Given the description of an element on the screen output the (x, y) to click on. 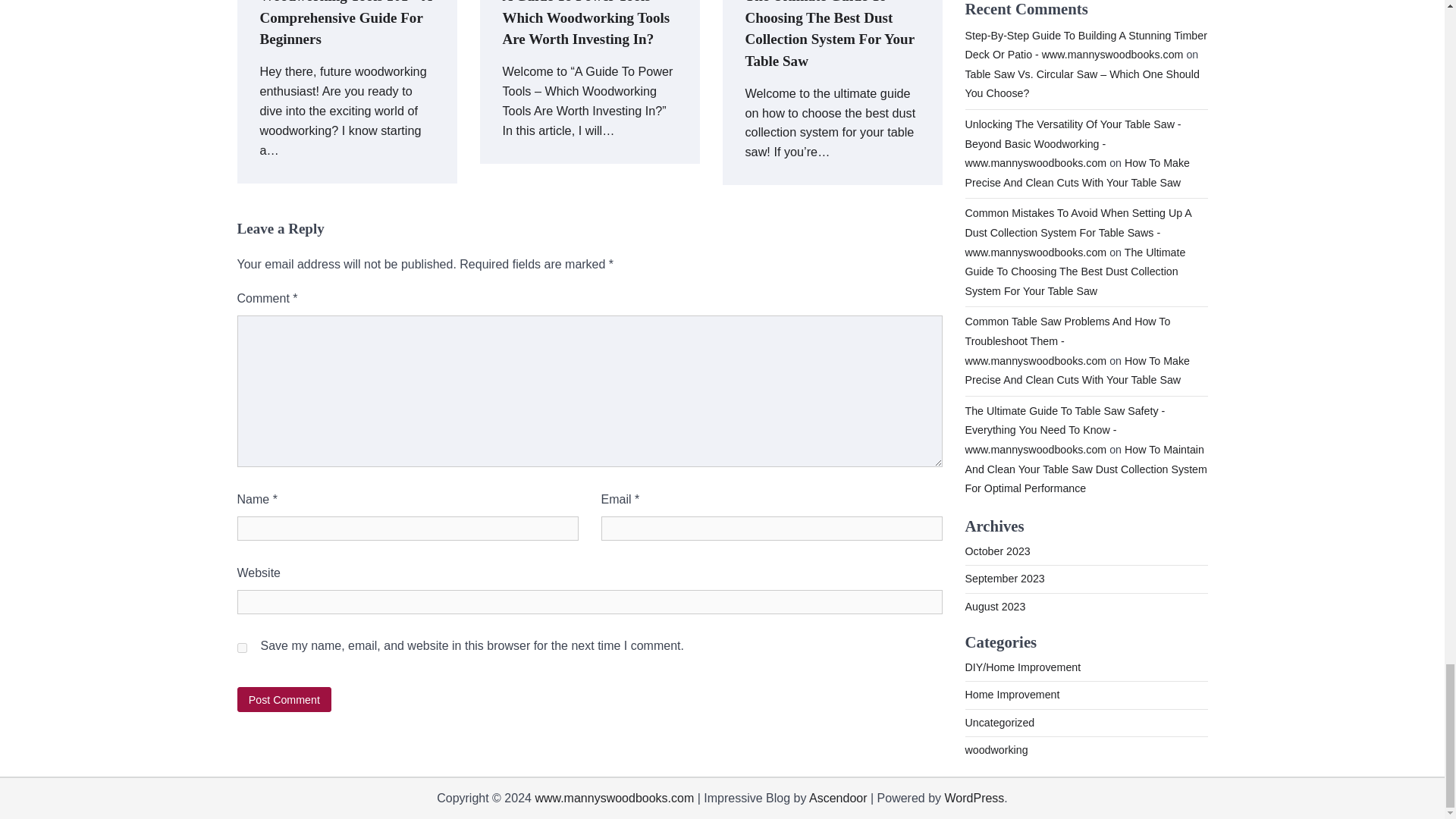
Post Comment (283, 699)
Post Comment (283, 699)
yes (240, 647)
